Given the description of an element on the screen output the (x, y) to click on. 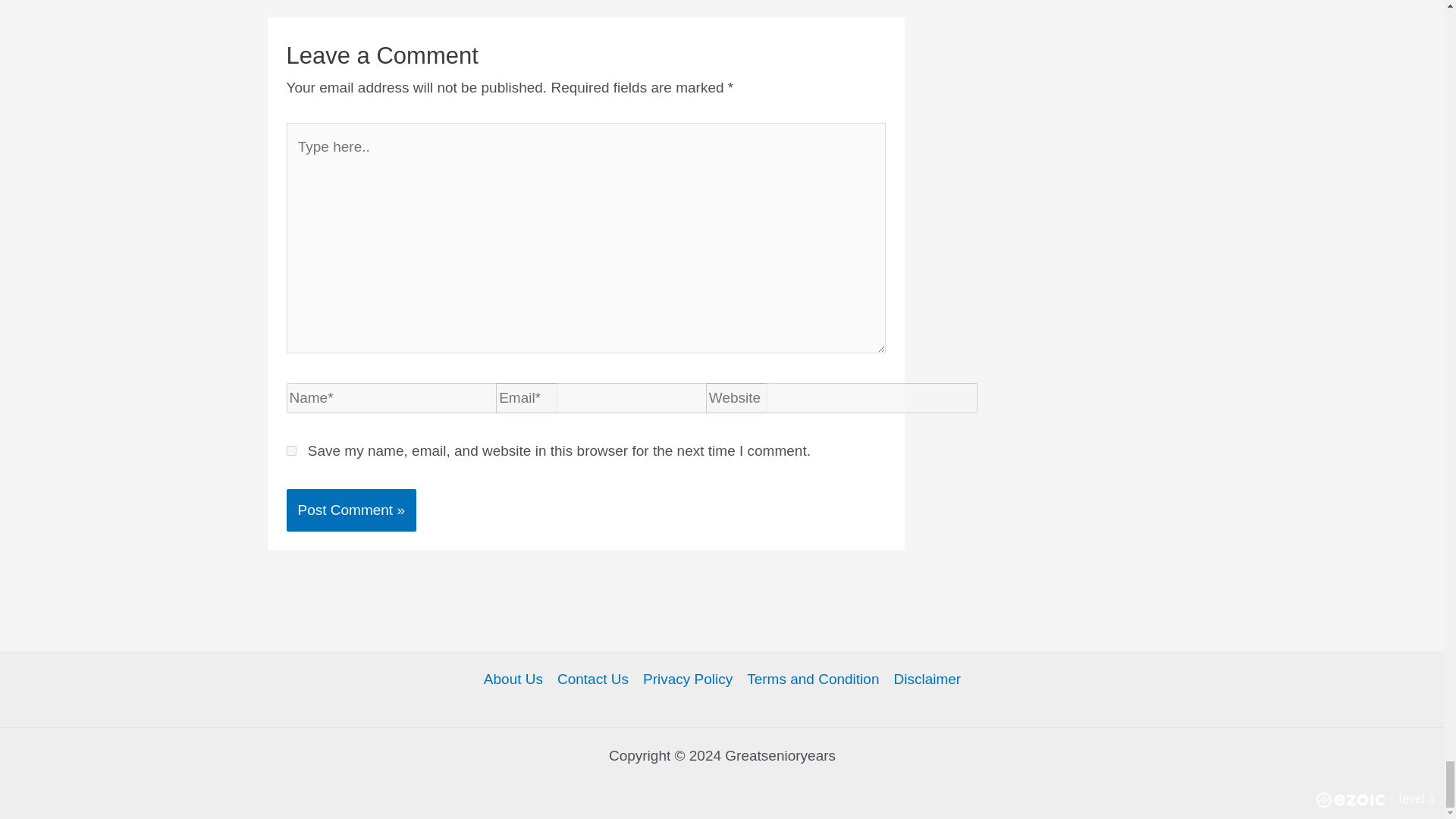
yes (291, 450)
